Given the description of an element on the screen output the (x, y) to click on. 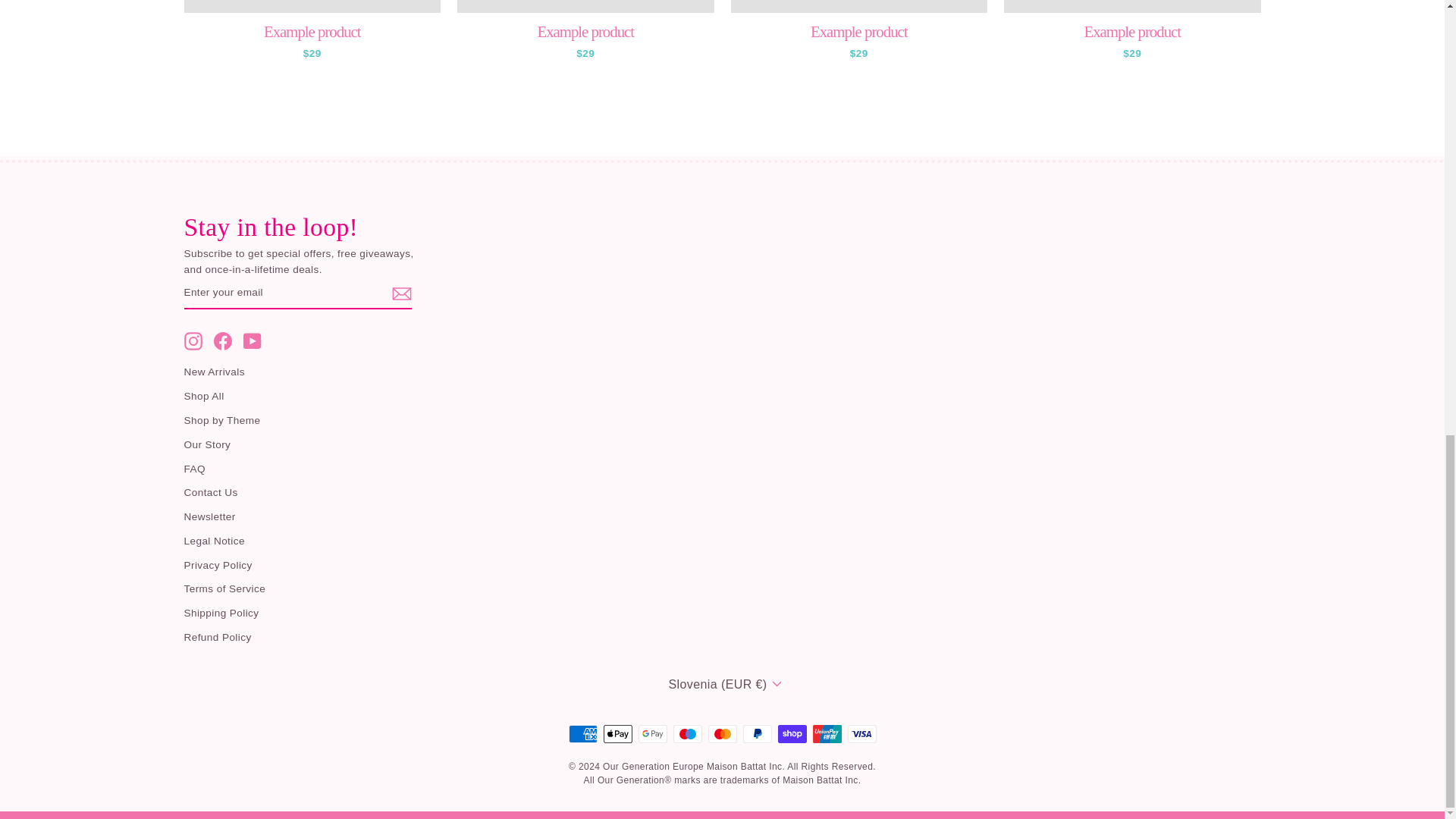
Our Generation Europe on Instagram (192, 341)
American Express (582, 733)
Our Generation Europe on Facebook (222, 341)
Our Generation Europe on YouTube (251, 341)
Apple Pay (617, 733)
